Given the description of an element on the screen output the (x, y) to click on. 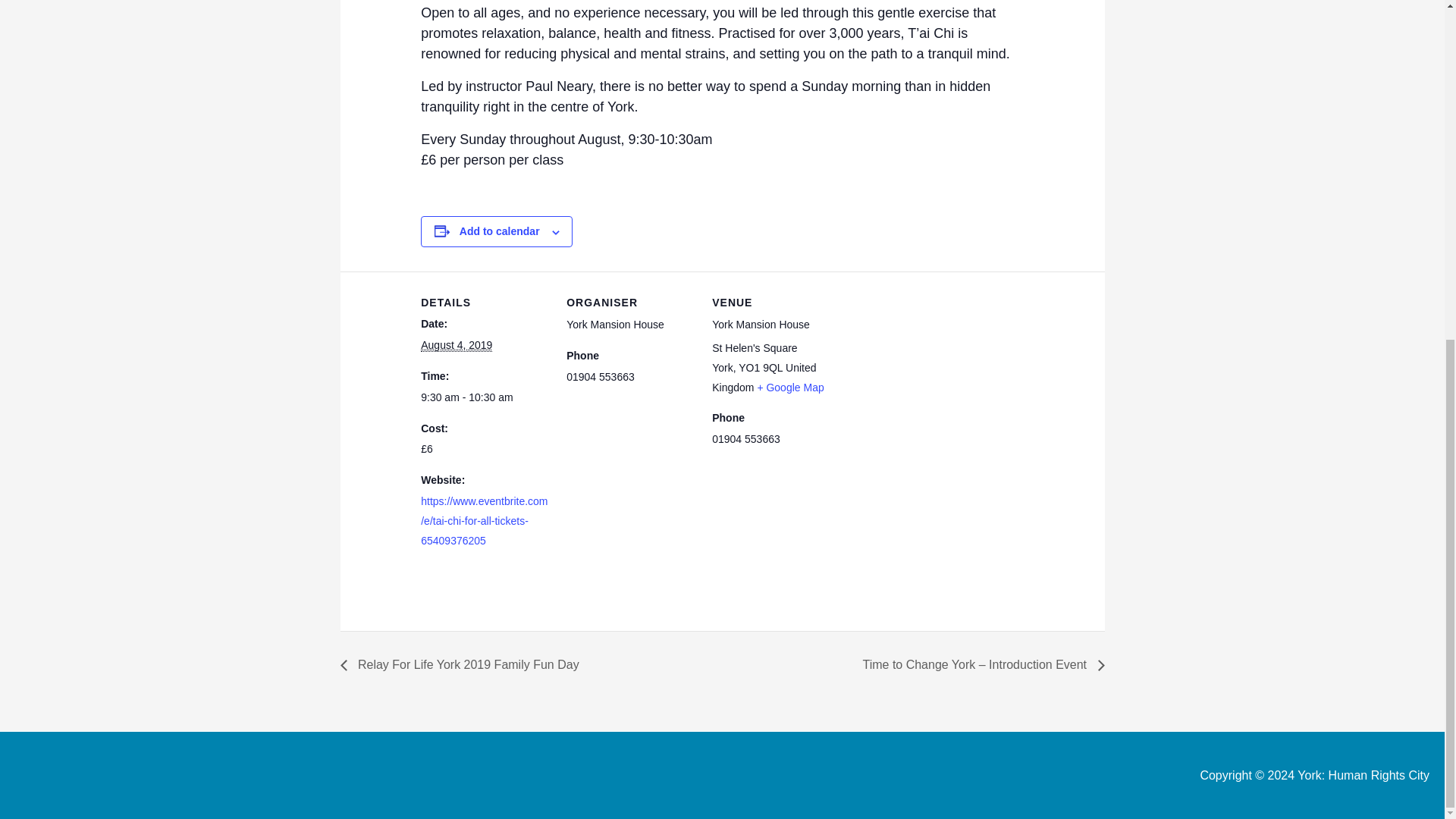
2019-08-04 (456, 345)
Add to calendar (500, 231)
2019-08-04 (484, 397)
Relay For Life York 2019 Family Fun Day (462, 664)
